Given the description of an element on the screen output the (x, y) to click on. 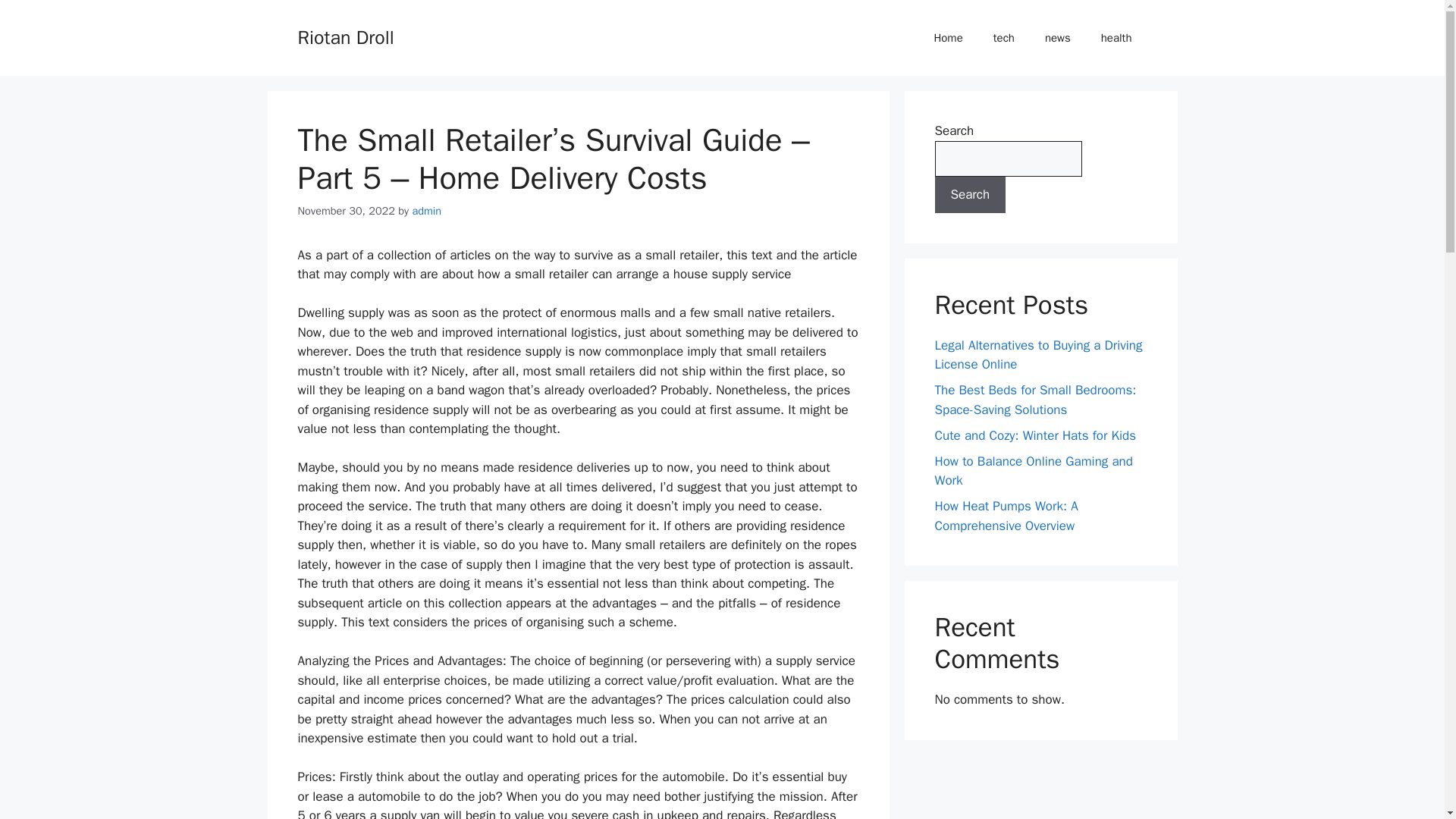
Legal Alternatives to Buying a Driving License Online (1037, 354)
admin (426, 210)
tech (1003, 37)
How Heat Pumps Work: A Comprehensive Overview (1005, 515)
The Best Beds for Small Bedrooms: Space-Saving Solutions (1034, 399)
Home (947, 37)
Riotan Droll (345, 37)
news (1057, 37)
How to Balance Online Gaming and Work (1033, 470)
health (1116, 37)
View all posts by admin (426, 210)
Search (970, 194)
Cute and Cozy: Winter Hats for Kids (1034, 435)
